Given the description of an element on the screen output the (x, y) to click on. 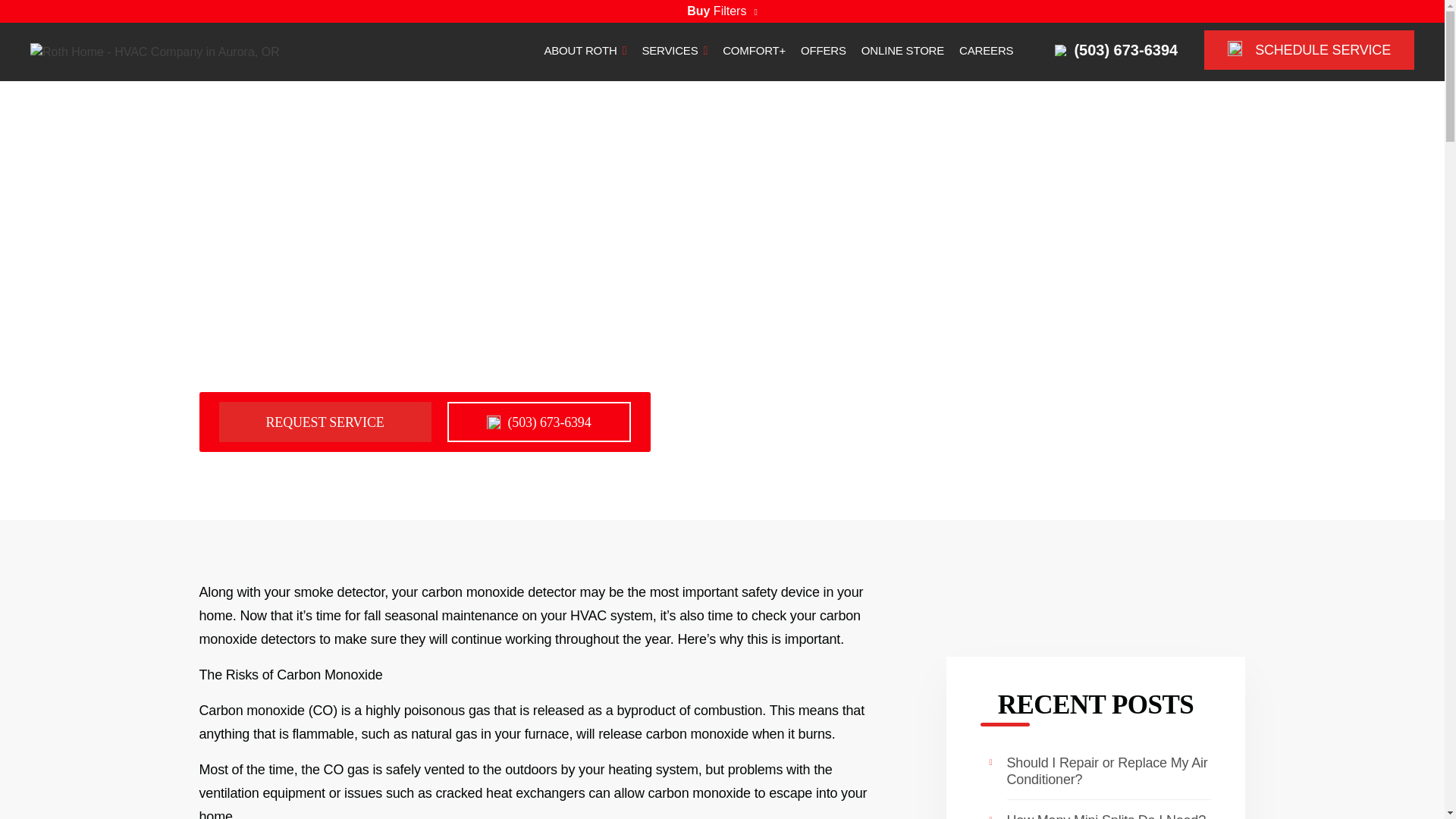
ABOUT ROTH (584, 51)
About Roth Home (584, 51)
Buy Filters (722, 10)
Services (674, 51)
ROTH Home (154, 51)
SERVICES (674, 51)
